Given the description of an element on the screen output the (x, y) to click on. 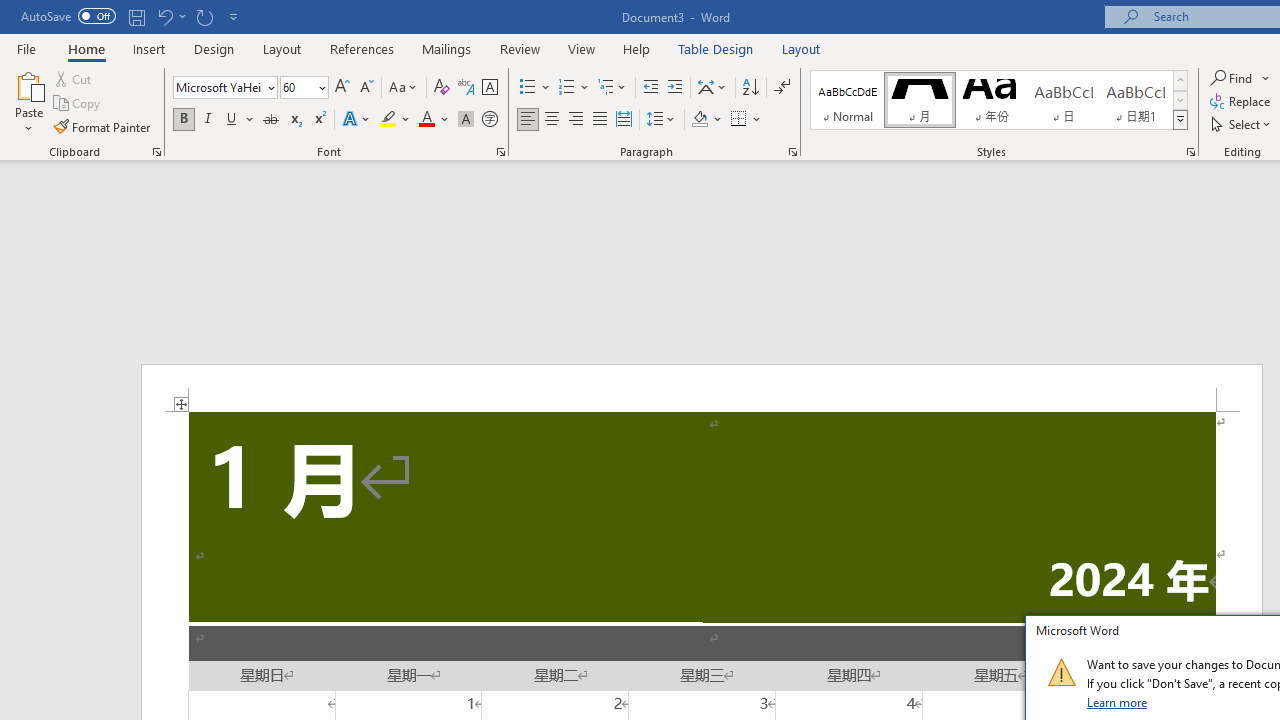
Class: NetUIImage (1061, 671)
Mailings (447, 48)
Bullets (527, 87)
Quick Access Toolbar (131, 16)
Bullets (535, 87)
Undo Apply Quick Style (164, 15)
Shrink Font (365, 87)
Font Color (434, 119)
Sort... (750, 87)
Shading RGB(0, 0, 0) (699, 119)
Bold (183, 119)
Numbering (573, 87)
Enclose Characters... (489, 119)
